Given the description of an element on the screen output the (x, y) to click on. 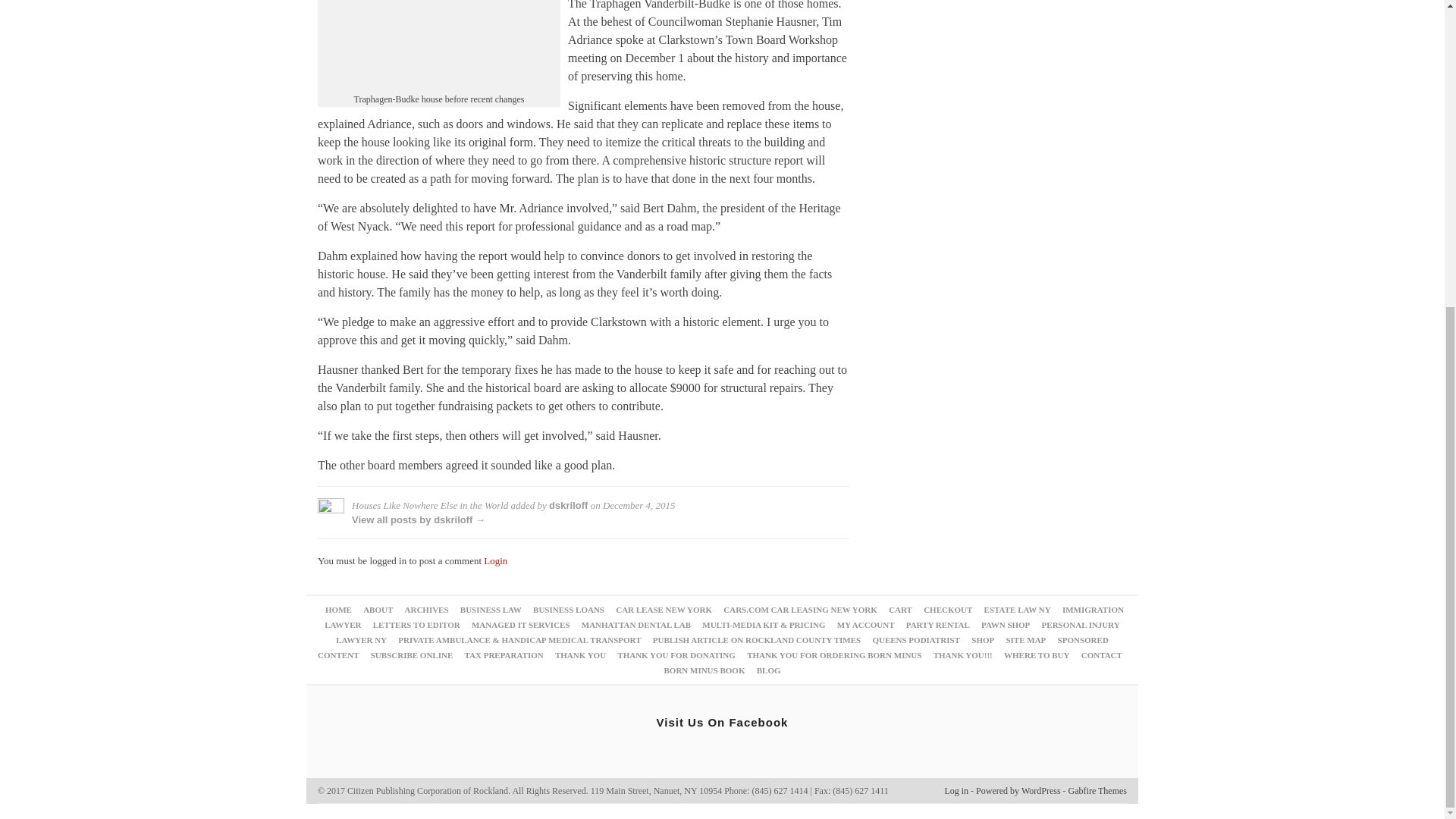
dskriloff (568, 505)
Semantic Personal Publishing Platform (1017, 790)
Login (494, 560)
WordPress Newspaper Themes (1097, 790)
